Given the description of an element on the screen output the (x, y) to click on. 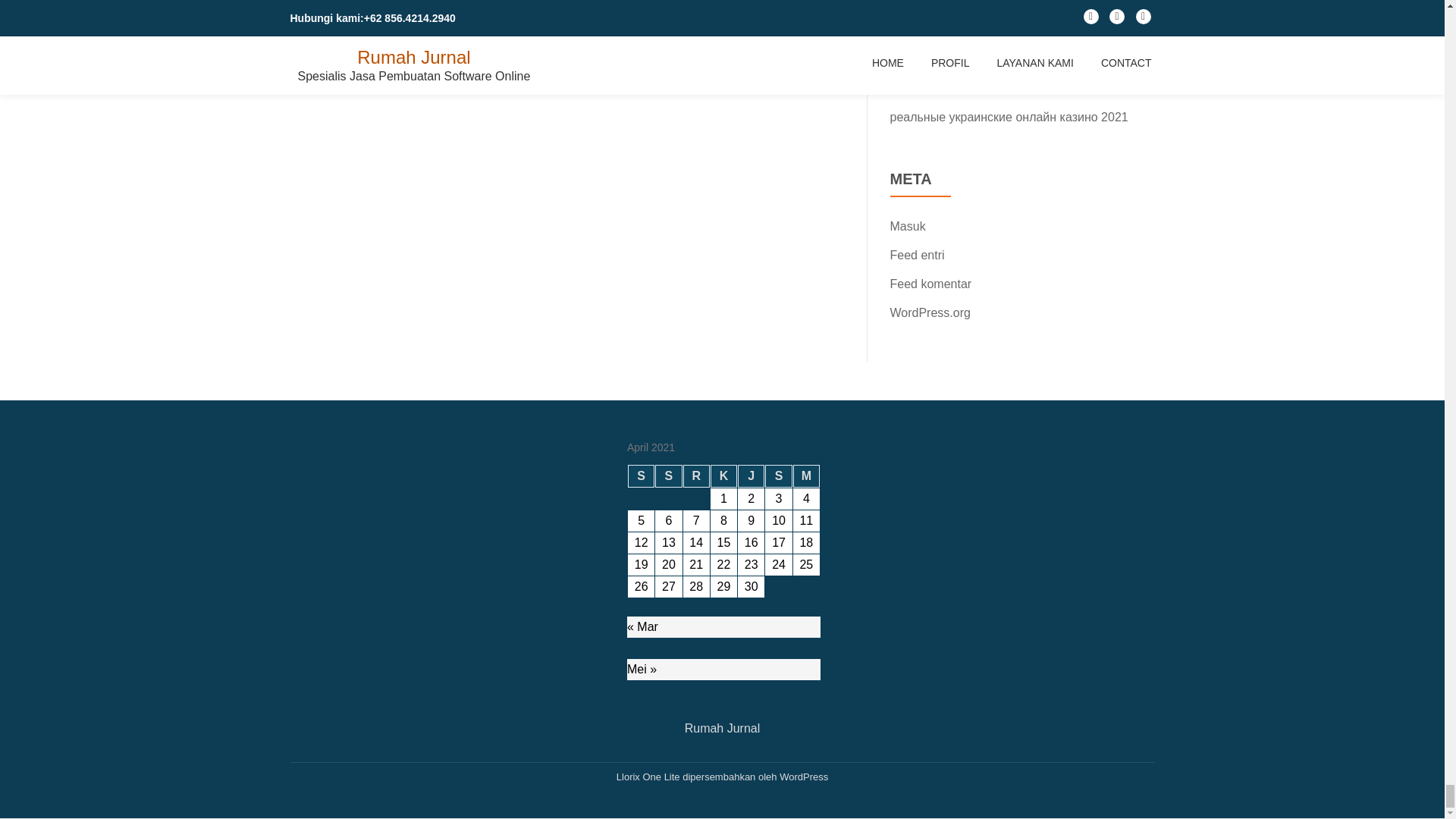
Senin (640, 476)
Minggu (806, 476)
Rabu (696, 476)
Sabtu (778, 476)
Selasa (668, 476)
Kamis (723, 476)
Jumat (751, 476)
